Given the description of an element on the screen output the (x, y) to click on. 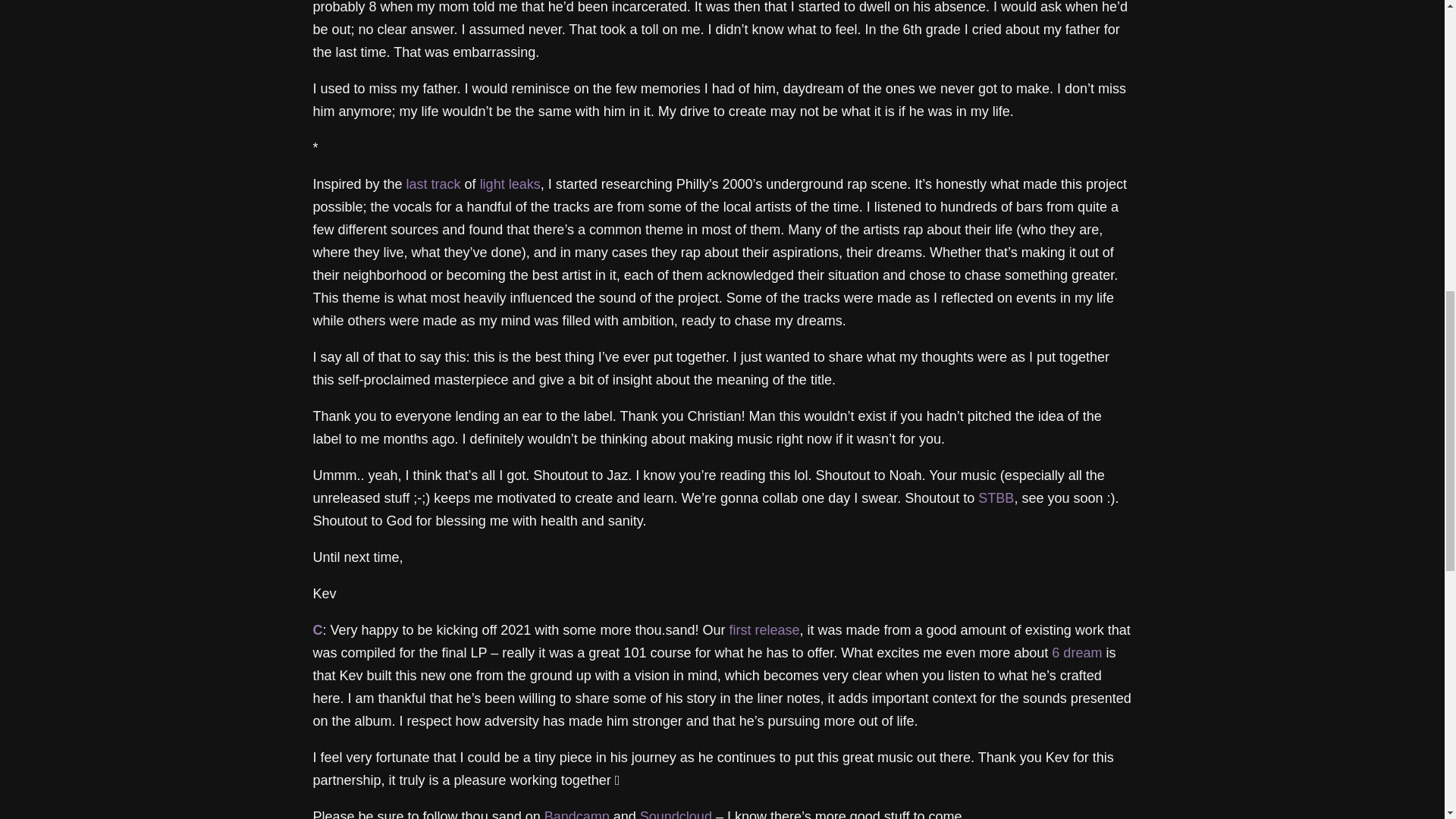
light leaks (510, 183)
last track  (435, 183)
first release (764, 630)
Bandcamp (577, 814)
Soundcloud (675, 814)
